Given the description of an element on the screen output the (x, y) to click on. 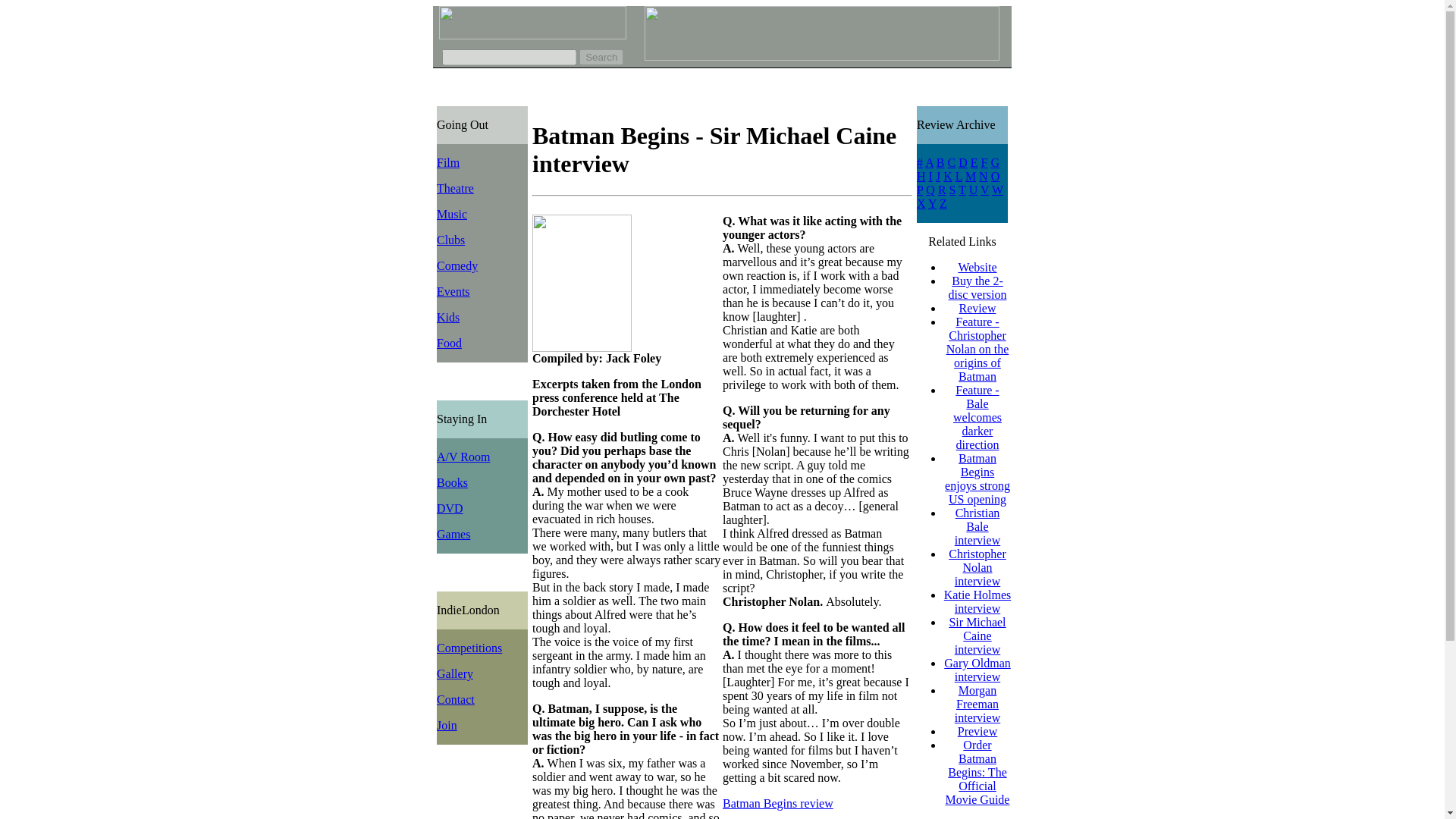
Competitions (469, 647)
Film (448, 162)
Comedy (456, 265)
Food (448, 342)
Gallery (454, 673)
Music (451, 214)
DVD (449, 508)
Clubs (450, 239)
Kids (448, 317)
Batman Begins review (777, 802)
Search (601, 57)
Games (453, 533)
Events (453, 291)
Theatre (455, 187)
Search (601, 57)
